Given the description of an element on the screen output the (x, y) to click on. 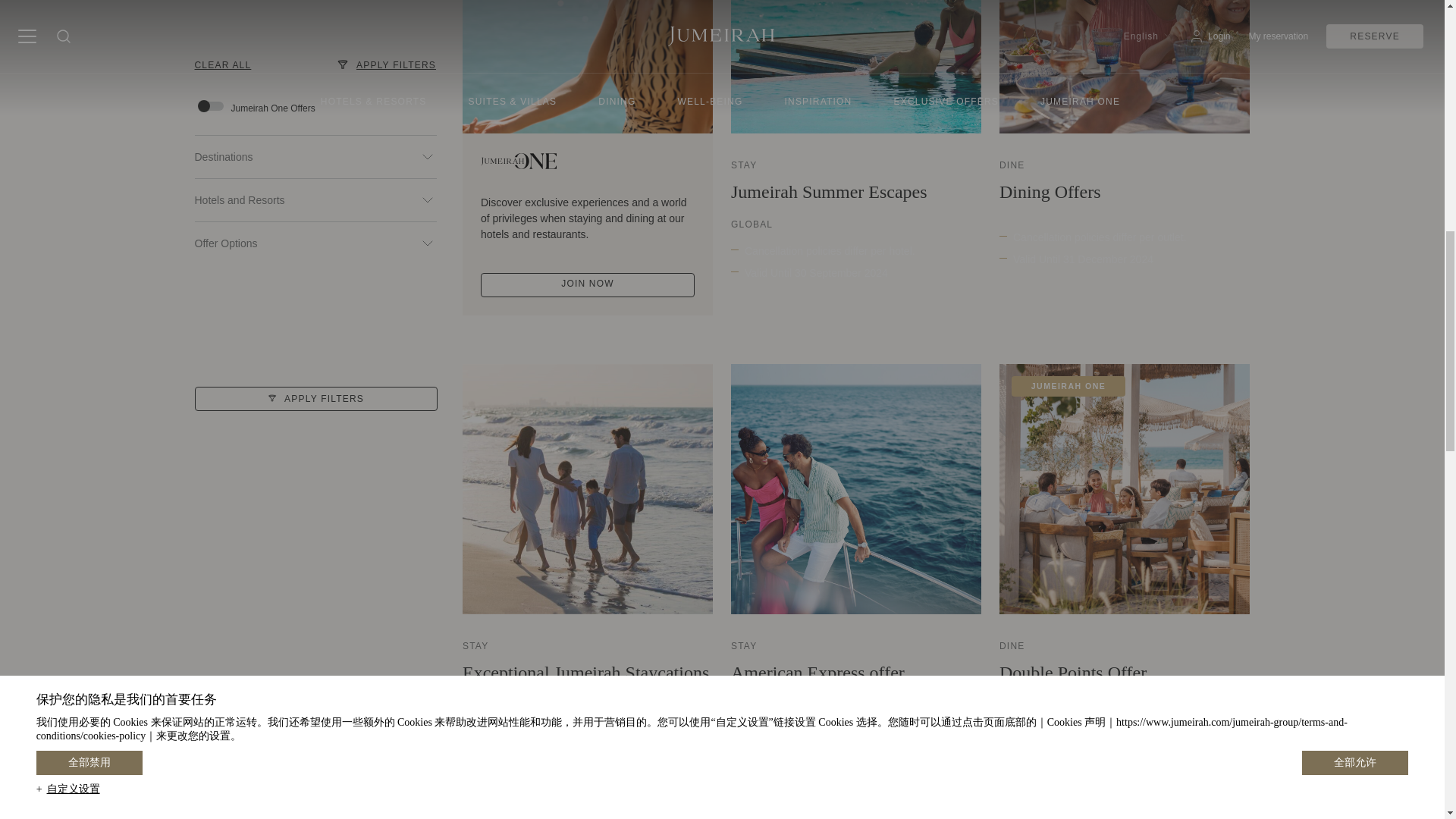
GLOBAL (751, 223)
STAY (743, 164)
STAY (475, 645)
JOIN NOW (587, 284)
GLOBAL (483, 704)
STAY (743, 645)
DINE (1011, 164)
